Given the description of an element on the screen output the (x, y) to click on. 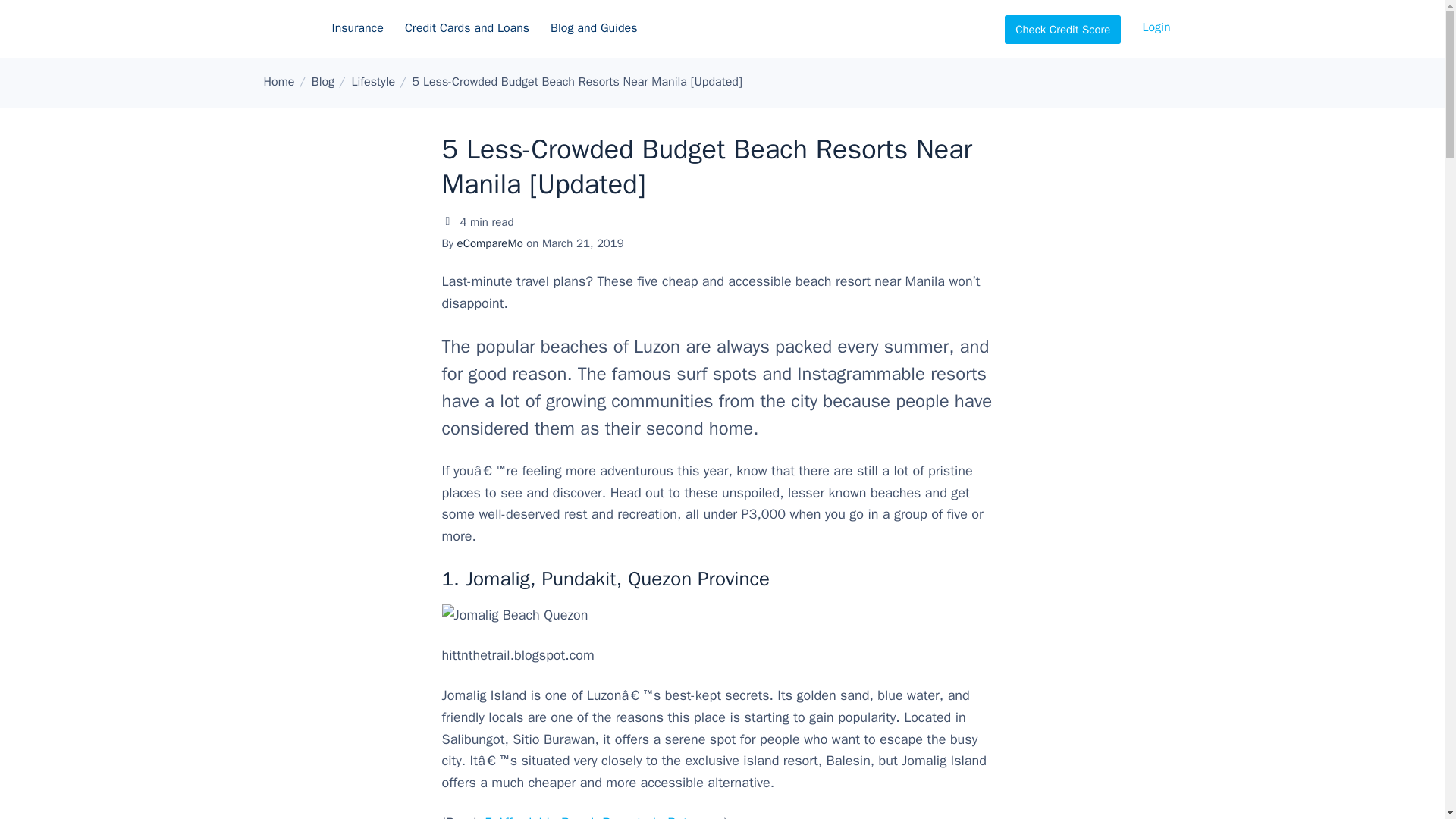
Lifestyle (372, 81)
Blog and Guides (593, 28)
Login (1155, 27)
Insurance (357, 28)
Check Credit Score (1062, 29)
Credit Cards and Loans (467, 28)
Blog (322, 81)
Lifestyle (372, 81)
Home (279, 81)
Blog (322, 81)
